Given the description of an element on the screen output the (x, y) to click on. 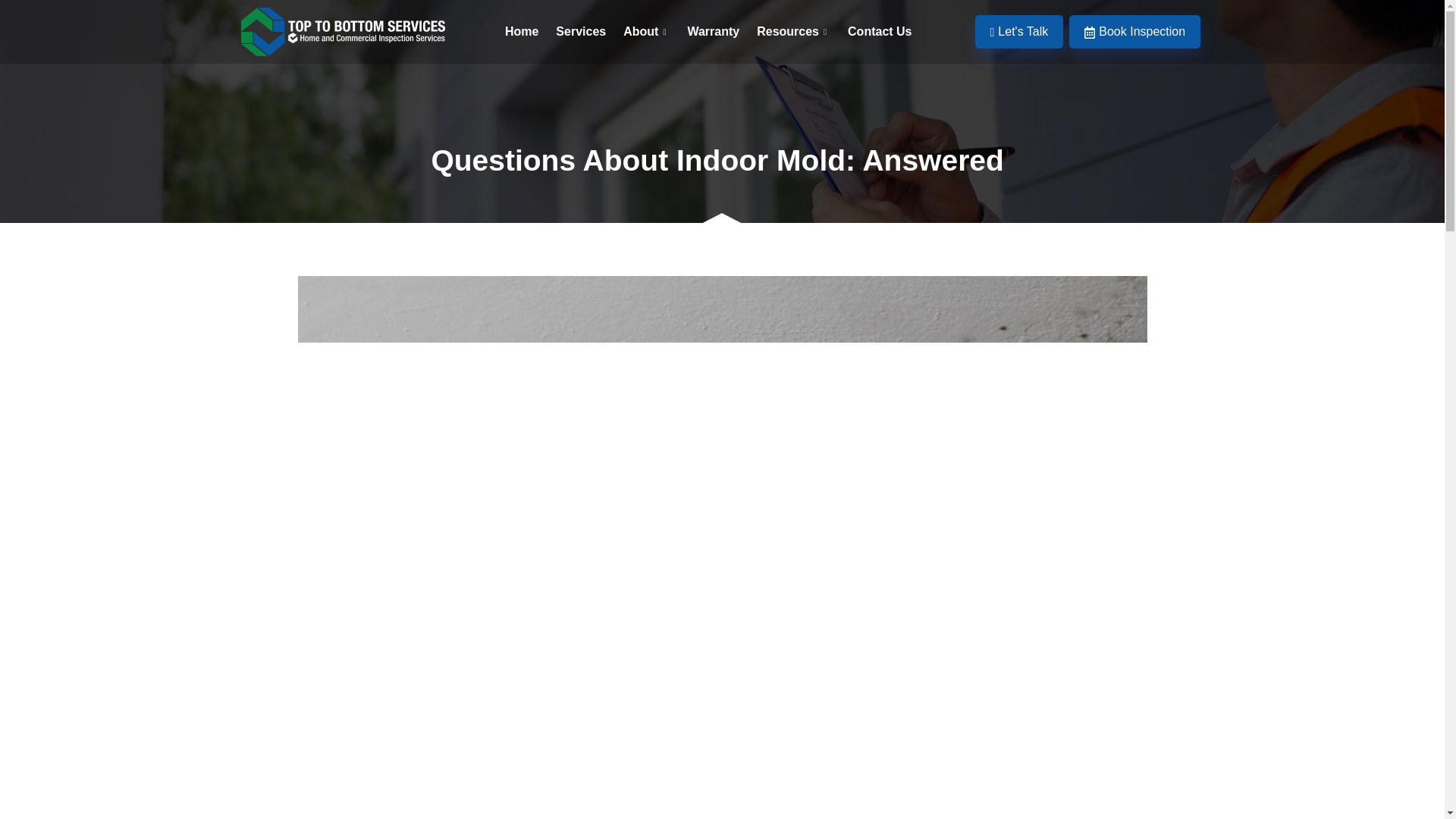
Contact Us (887, 31)
Let's Talk (1019, 31)
Warranty (722, 31)
Resources (802, 31)
Home (530, 31)
Book Inspection (1133, 31)
Services (589, 31)
About (655, 31)
